Given the description of an element on the screen output the (x, y) to click on. 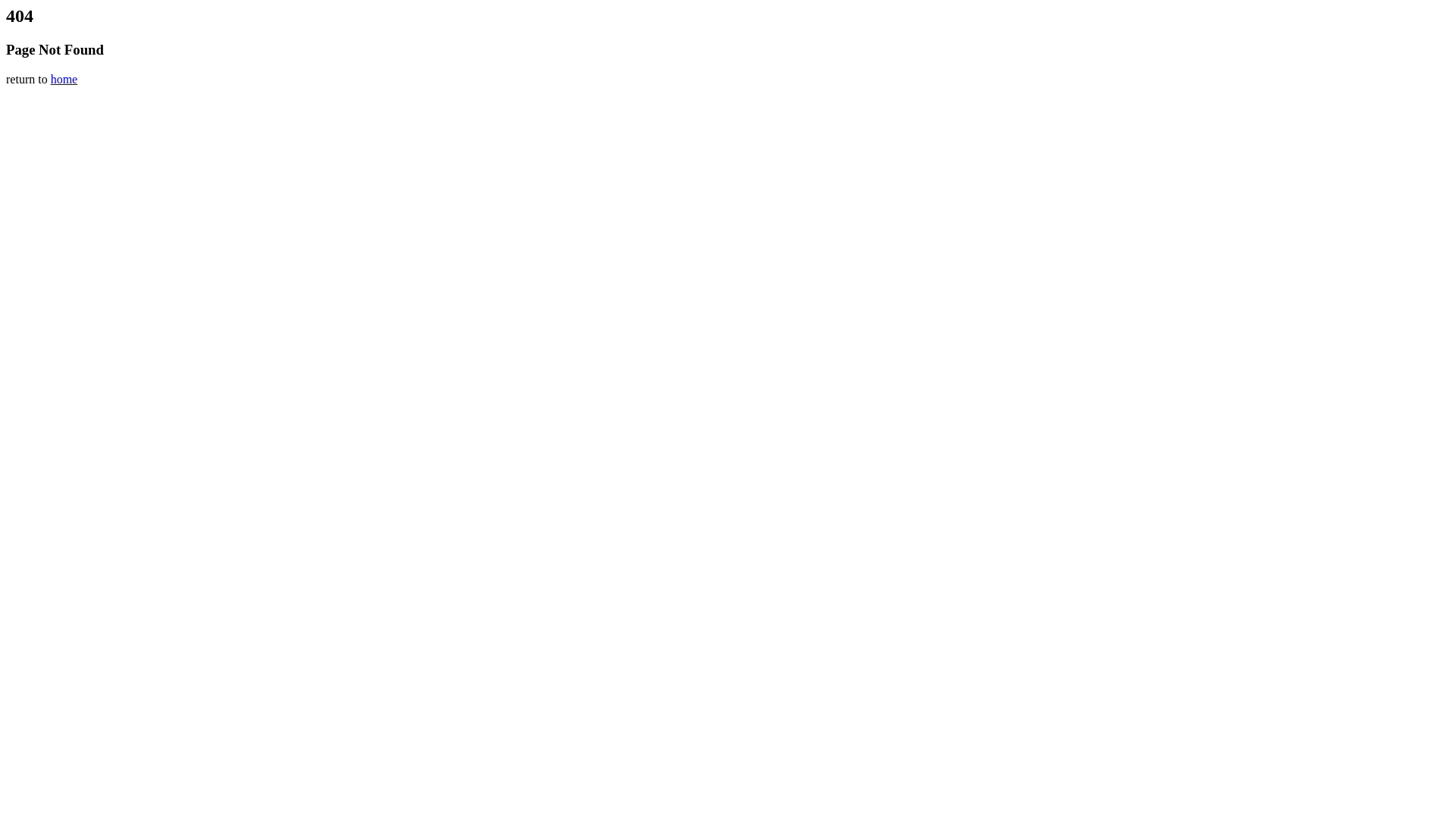
home Element type: text (64, 78)
